Given the description of an element on the screen output the (x, y) to click on. 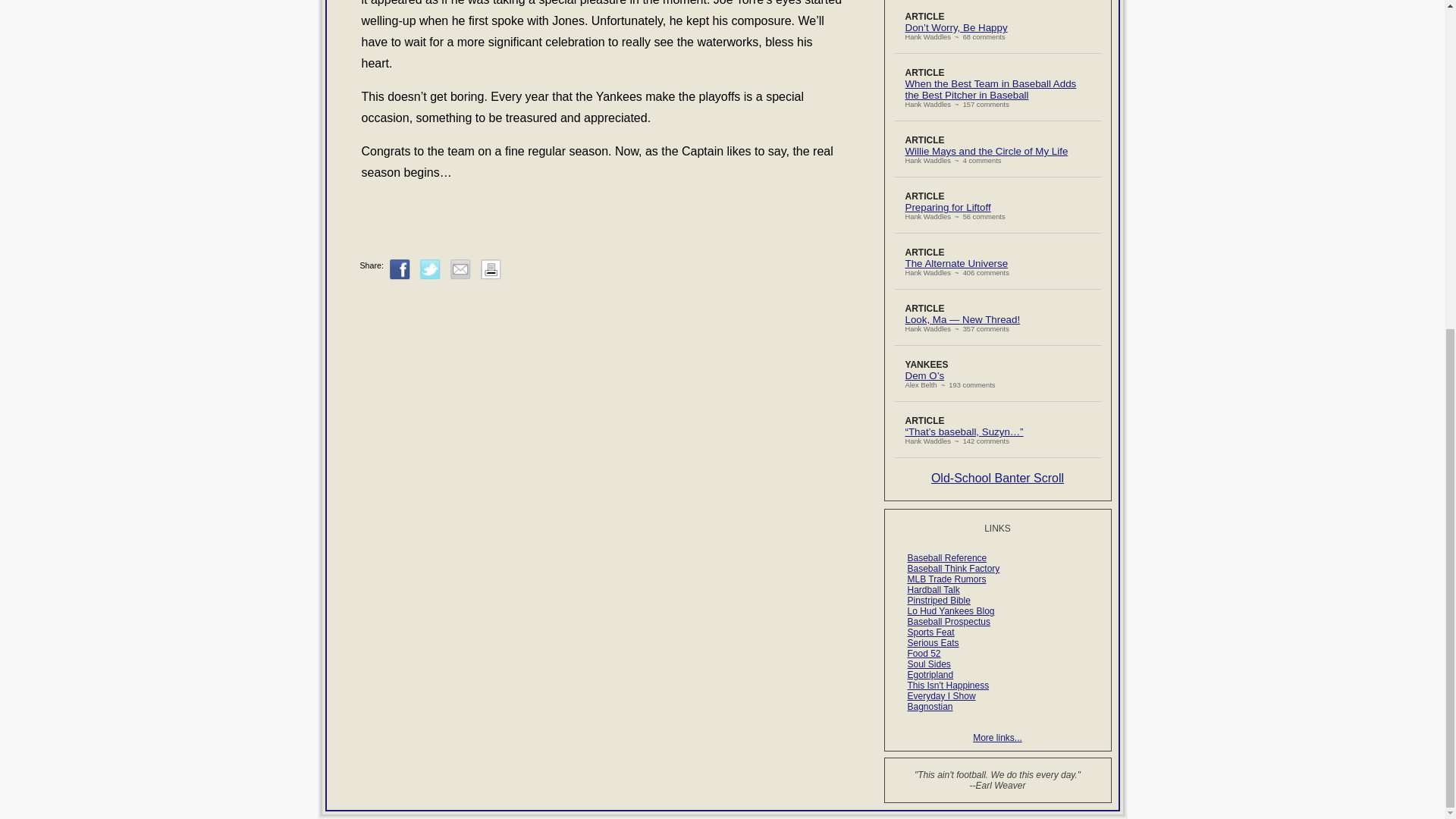
Share on Twitter (430, 269)
Print This Post (490, 269)
Permanent link to The Alternate Universe (957, 263)
Share on Facebook (400, 269)
Share via email (459, 269)
Print This Post (490, 276)
Permanent link to Willie Mays and the Circle of My Life (986, 151)
Permanent link to Preparing for Liftoff (948, 206)
